Given the description of an element on the screen output the (x, y) to click on. 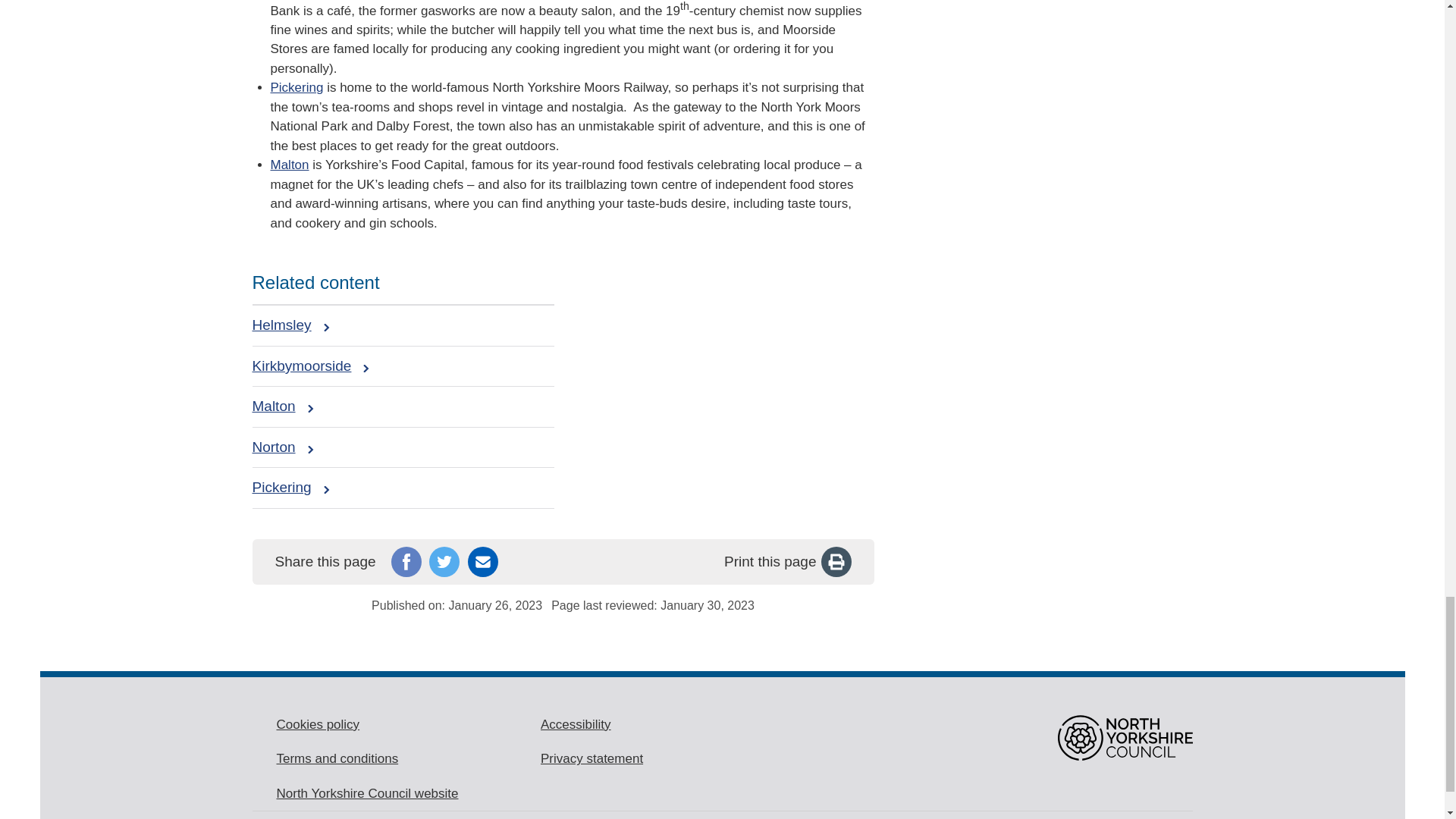
Pickering (296, 87)
Accessibility (575, 724)
Helmsley (290, 325)
Share via Email (482, 562)
North Yorkshire Council website (367, 793)
Share on Twitter (444, 562)
North Yorkshire County Council Homepage (1124, 737)
Pickering (290, 487)
Malton (282, 406)
Norton (282, 447)
